Given the description of an element on the screen output the (x, y) to click on. 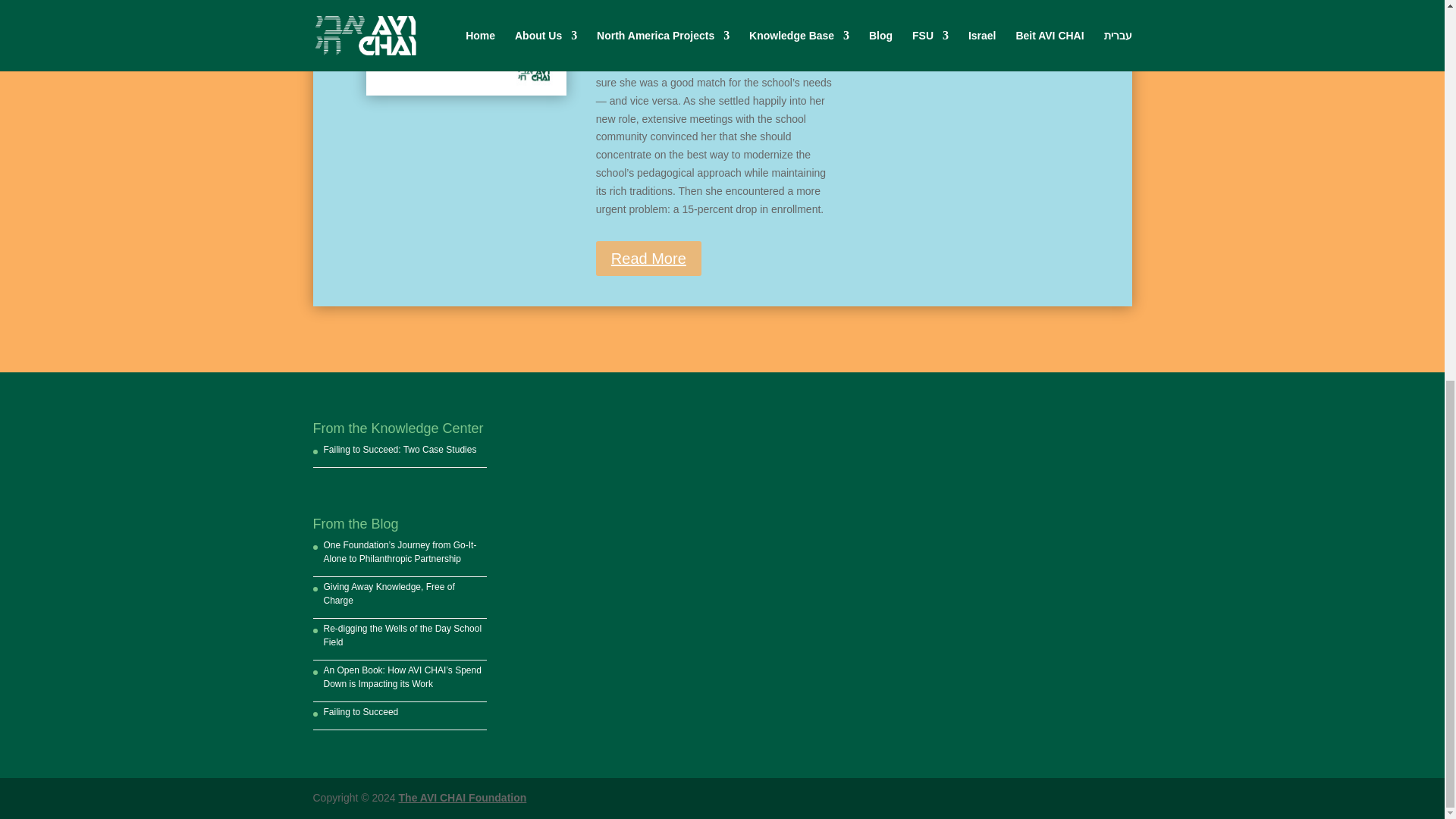
Posts by Cheryl R. Finkel (651, 6)
